Given the description of an element on the screen output the (x, y) to click on. 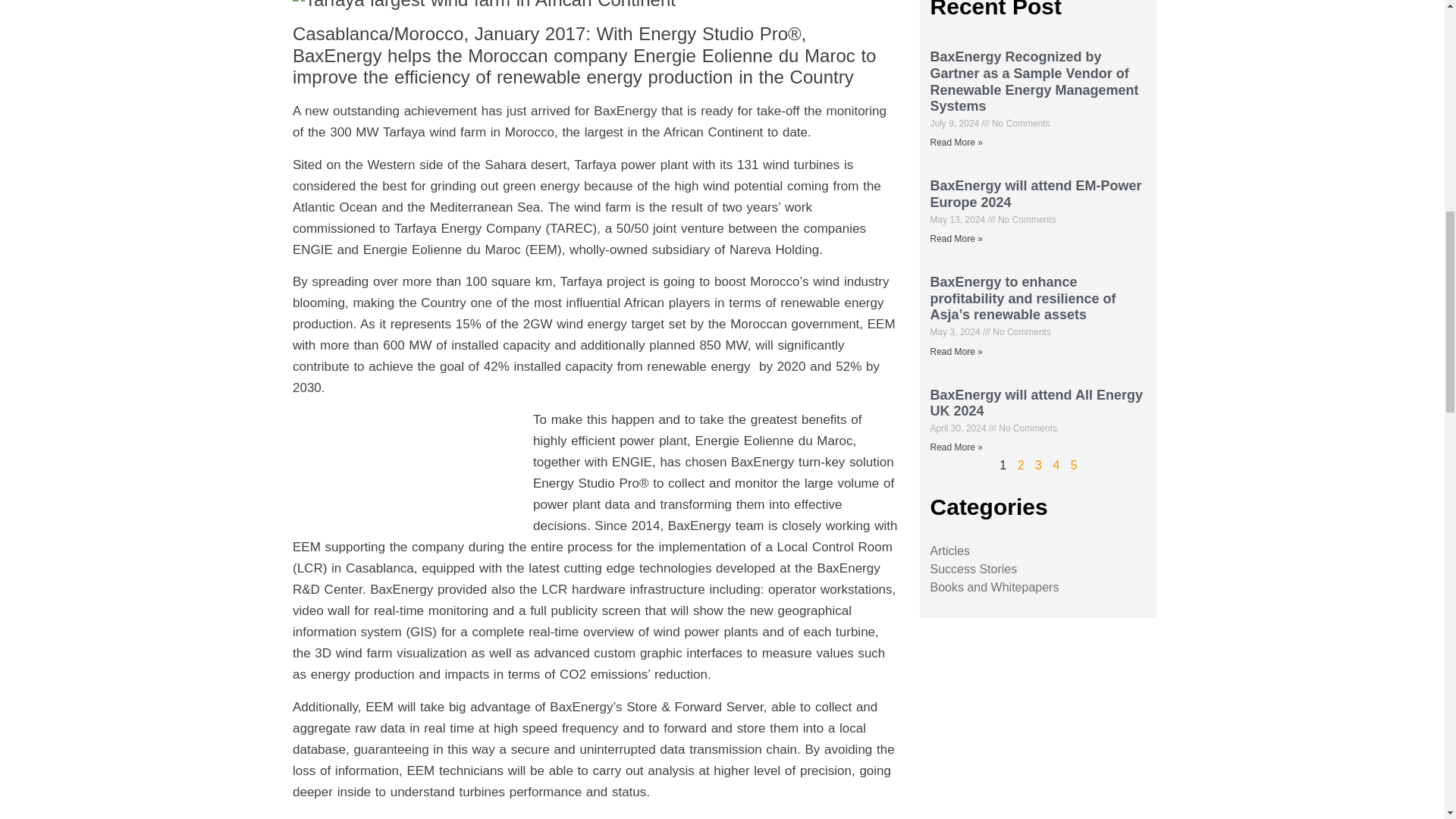
2 (1021, 464)
4 (1055, 464)
3 (1038, 464)
5 (1073, 464)
Success Stories (973, 568)
Books and Whitepapers (994, 586)
BaxEnergy will attend EM-Power Europe 2024 (1035, 193)
BaxEnergy will attend All Energy UK 2024 (1036, 403)
Articles (949, 550)
